Given the description of an element on the screen output the (x, y) to click on. 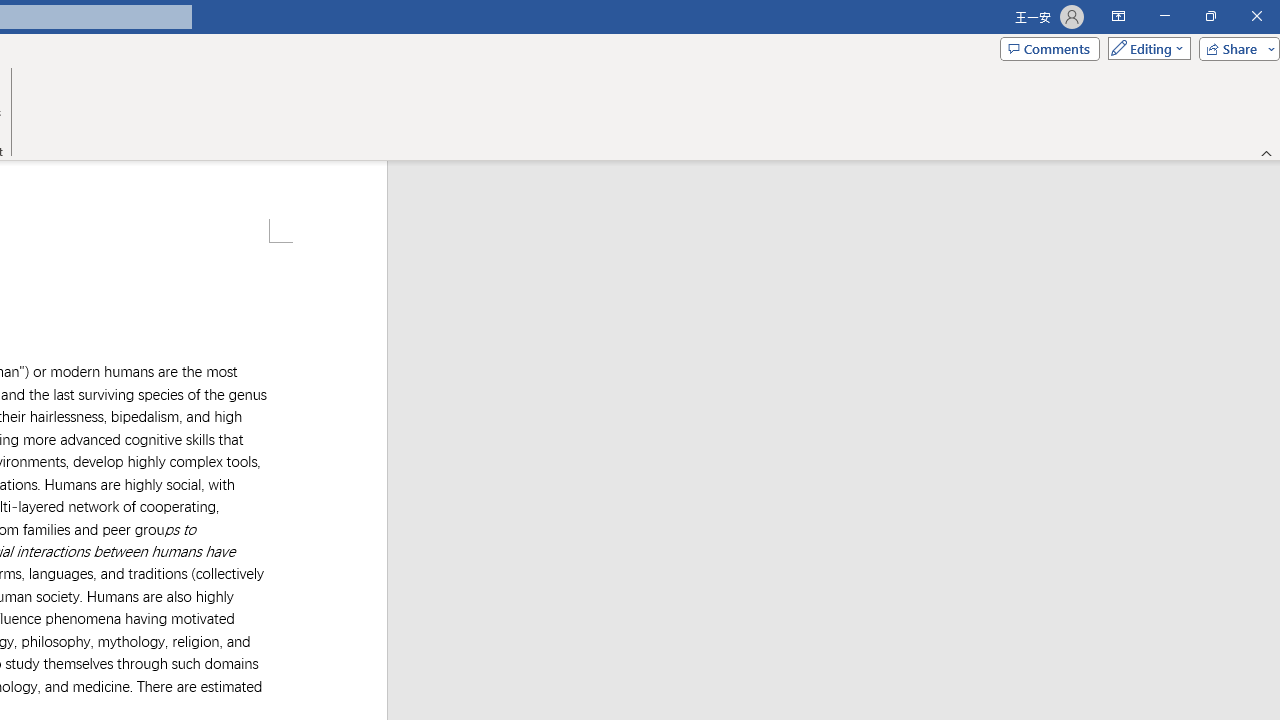
Editing (1144, 47)
